Given the description of an element on the screen output the (x, y) to click on. 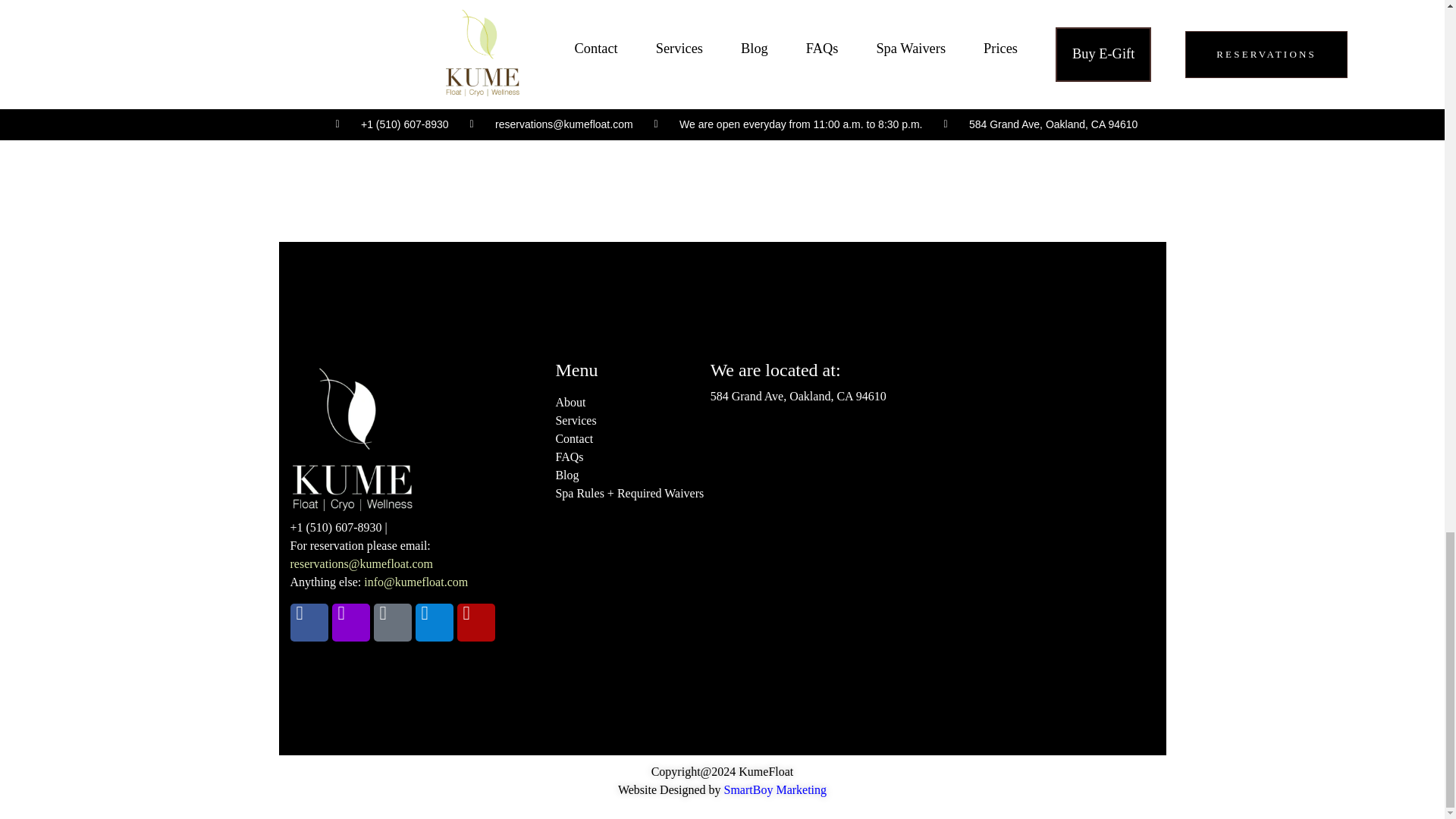
Services (574, 420)
FAQs (568, 456)
584 Grand Ave, Oakland, CA 94610 (929, 546)
Contact (573, 438)
Blog (566, 474)
SmartBoy Marketing (775, 789)
About (569, 401)
